Given the description of an element on the screen output the (x, y) to click on. 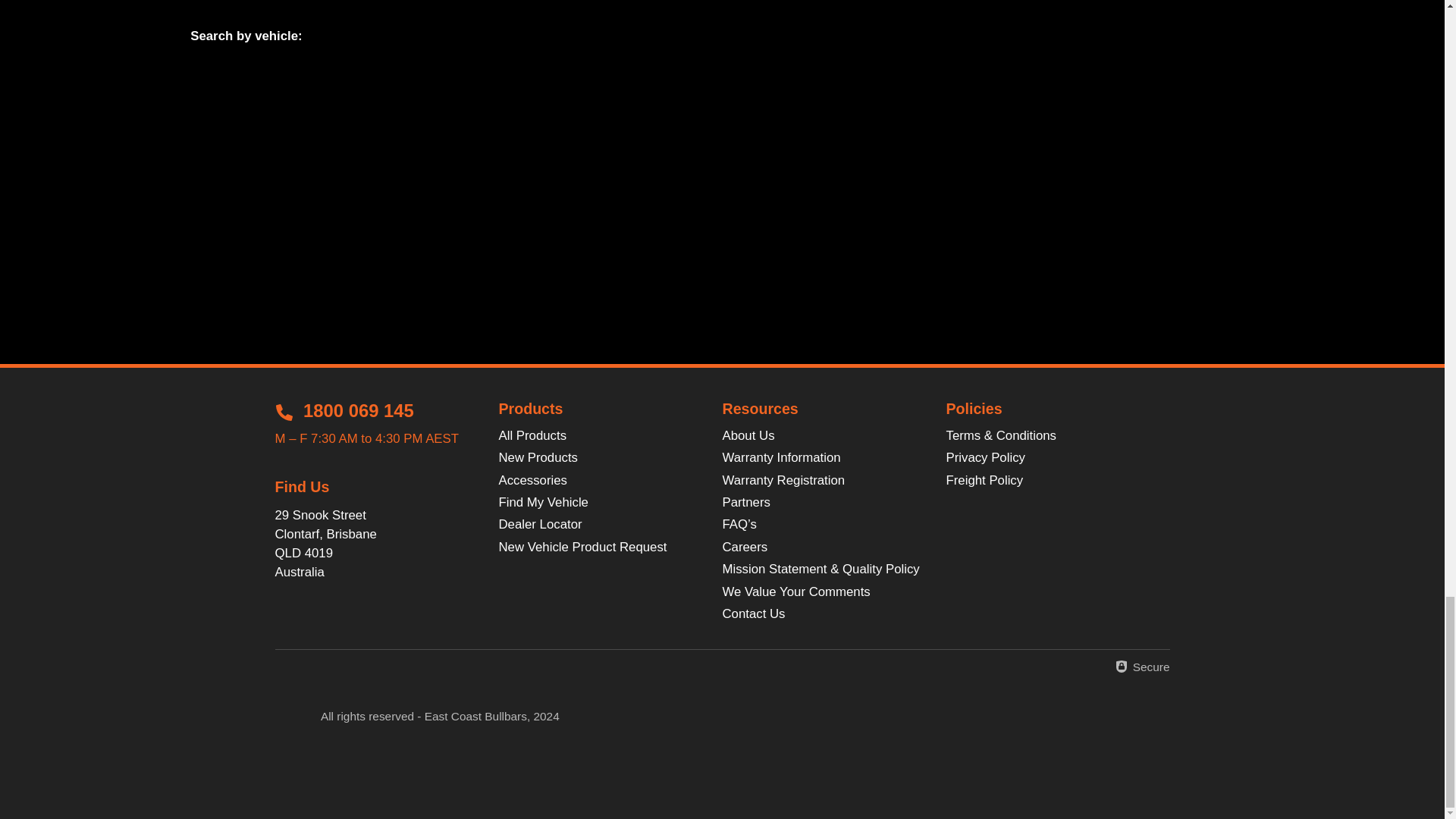
privacy (1120, 666)
phone (283, 412)
